Given the description of an element on the screen output the (x, y) to click on. 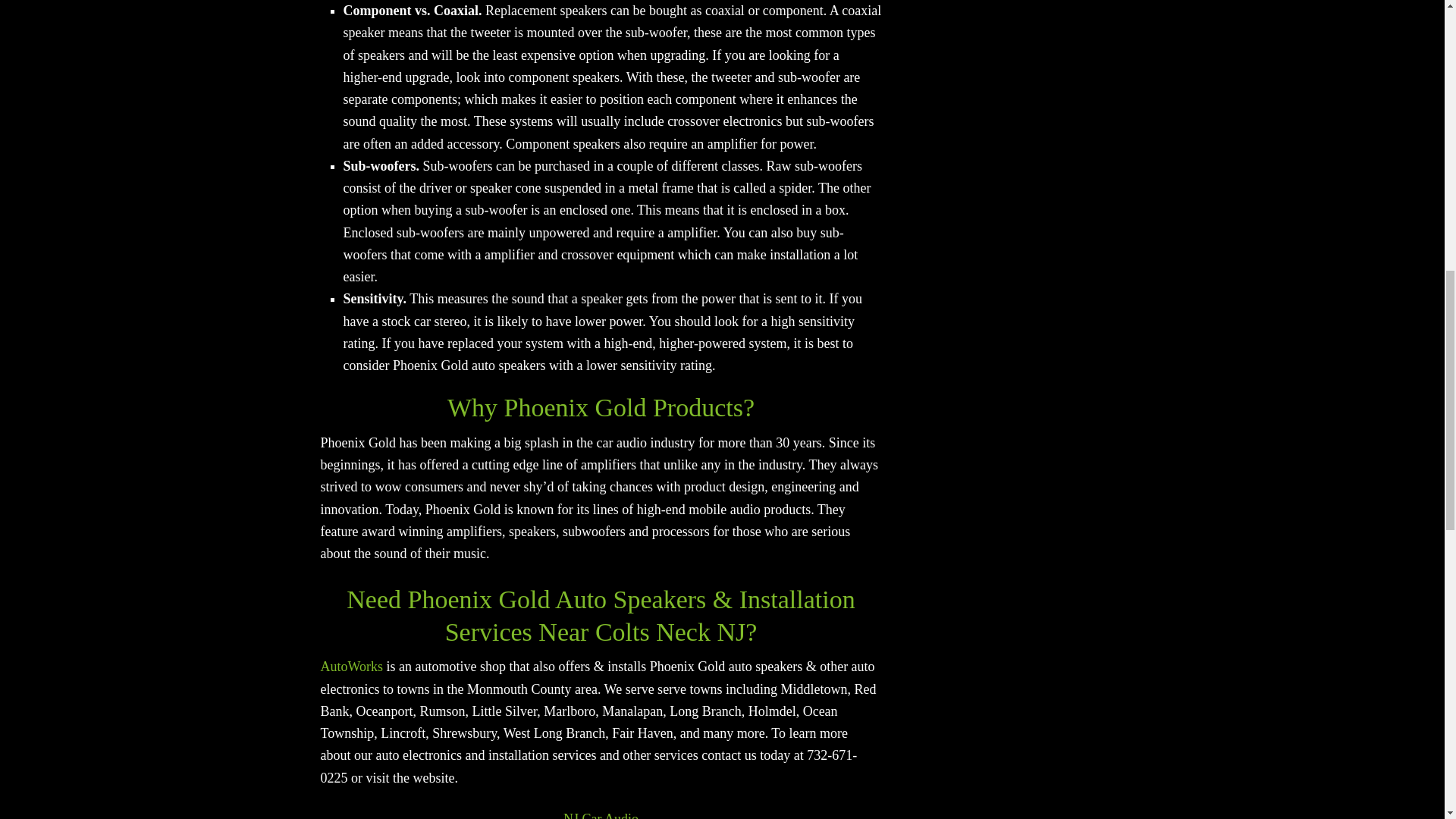
NJ Car Audio (601, 815)
Spring Lake Gauge Installation (351, 666)
AutoWorks (351, 666)
